Given the description of an element on the screen output the (x, y) to click on. 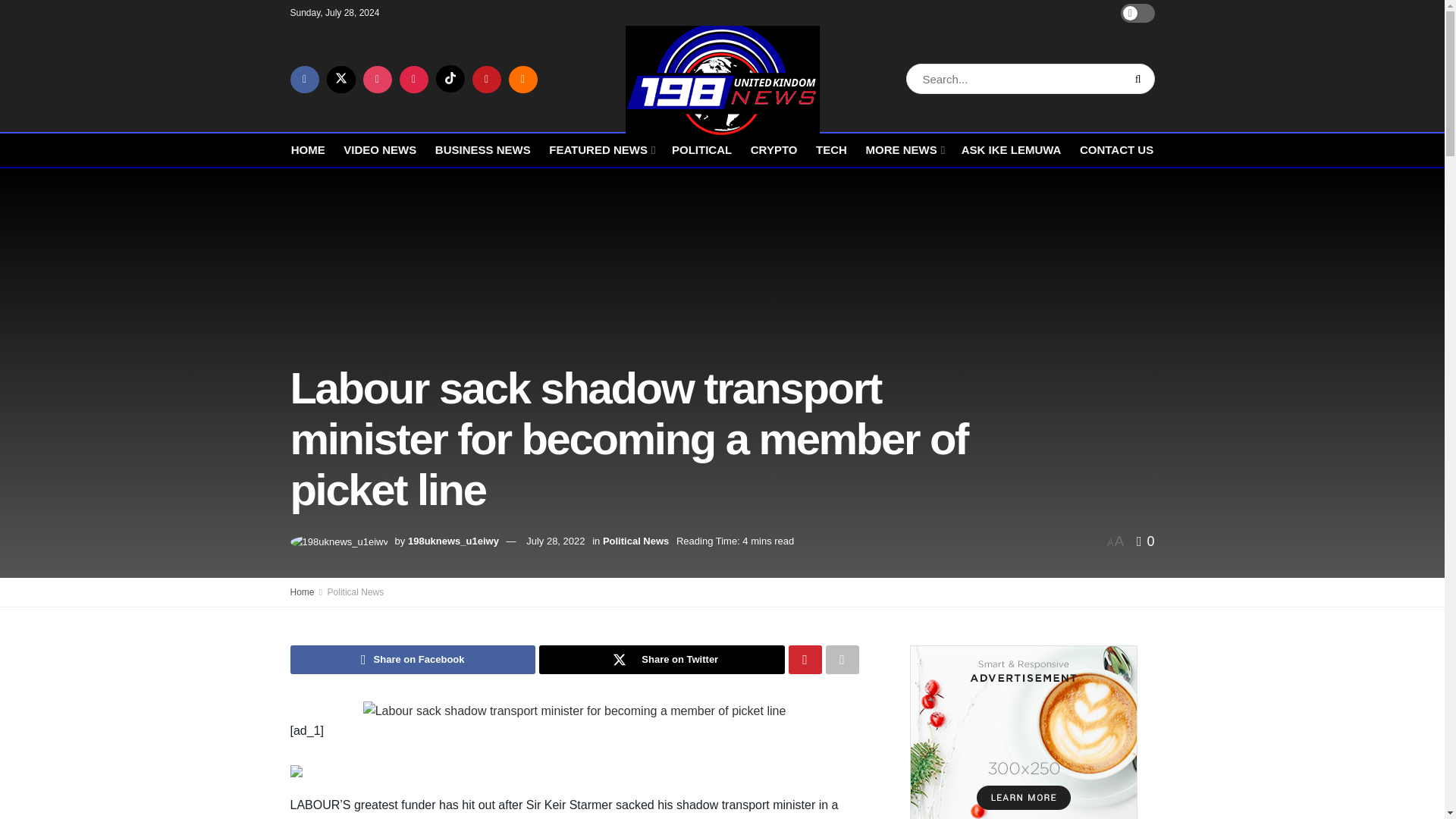
ASK IKE LEMUWA (1010, 149)
CONTACT US (1116, 149)
FEATURED NEWS (600, 149)
CRYPTO (774, 149)
MORE NEWS (903, 149)
HOME (307, 149)
POLITICAL (701, 149)
VIDEO NEWS (379, 149)
TECH (831, 149)
BUSINESS NEWS (483, 149)
